Given the description of an element on the screen output the (x, y) to click on. 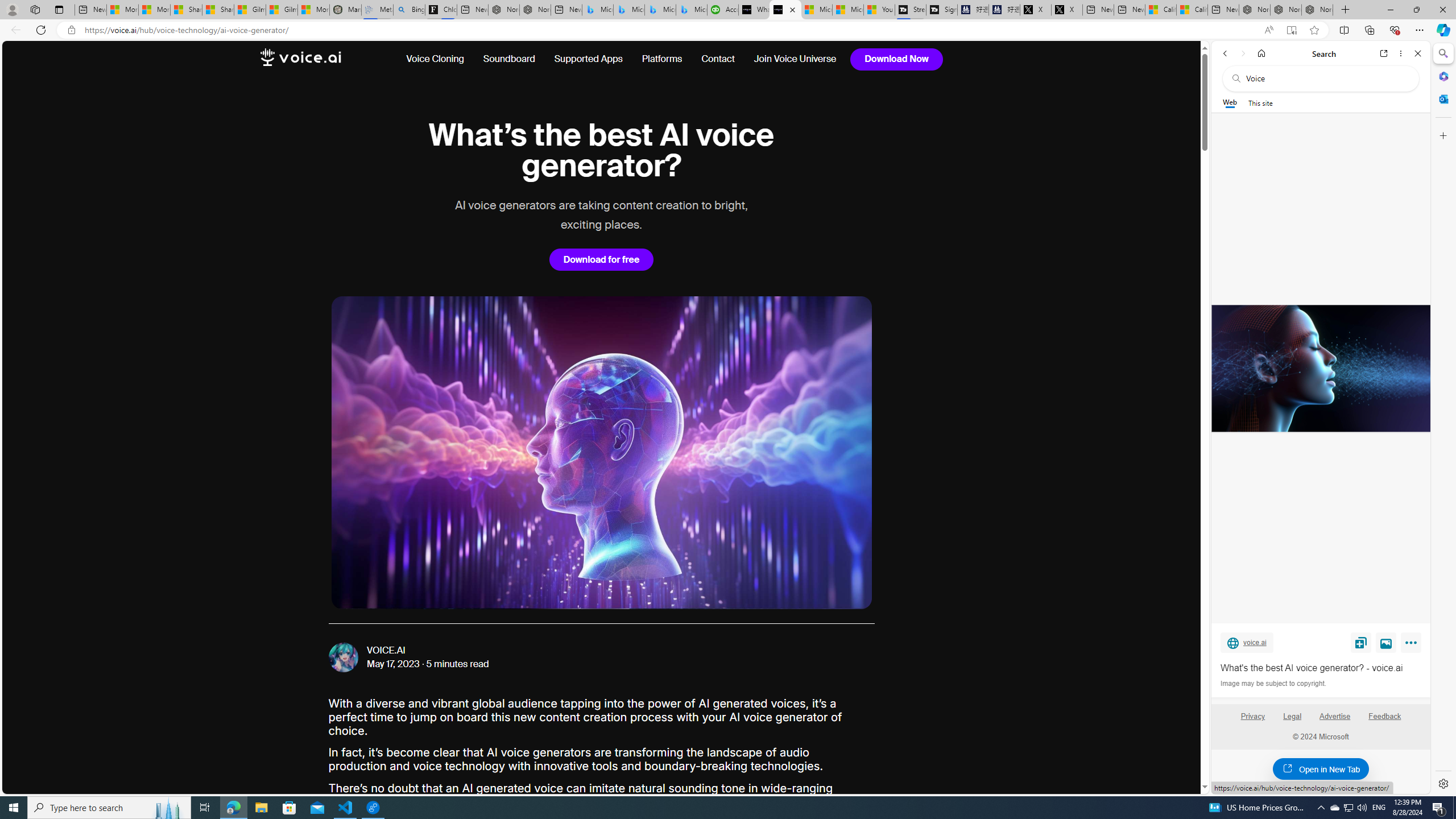
App bar (728, 29)
Privacy (1252, 715)
Supported Apps (588, 59)
Feedback (1384, 715)
More (1413, 644)
View image (1385, 642)
Nordace - #1 Japanese Best-Seller - Siena Smart Backpack (535, 9)
voice.ai (1247, 642)
Microsoft Bing Travel - Shangri-La Hotel Bangkok (691, 9)
